Given the description of an element on the screen output the (x, y) to click on. 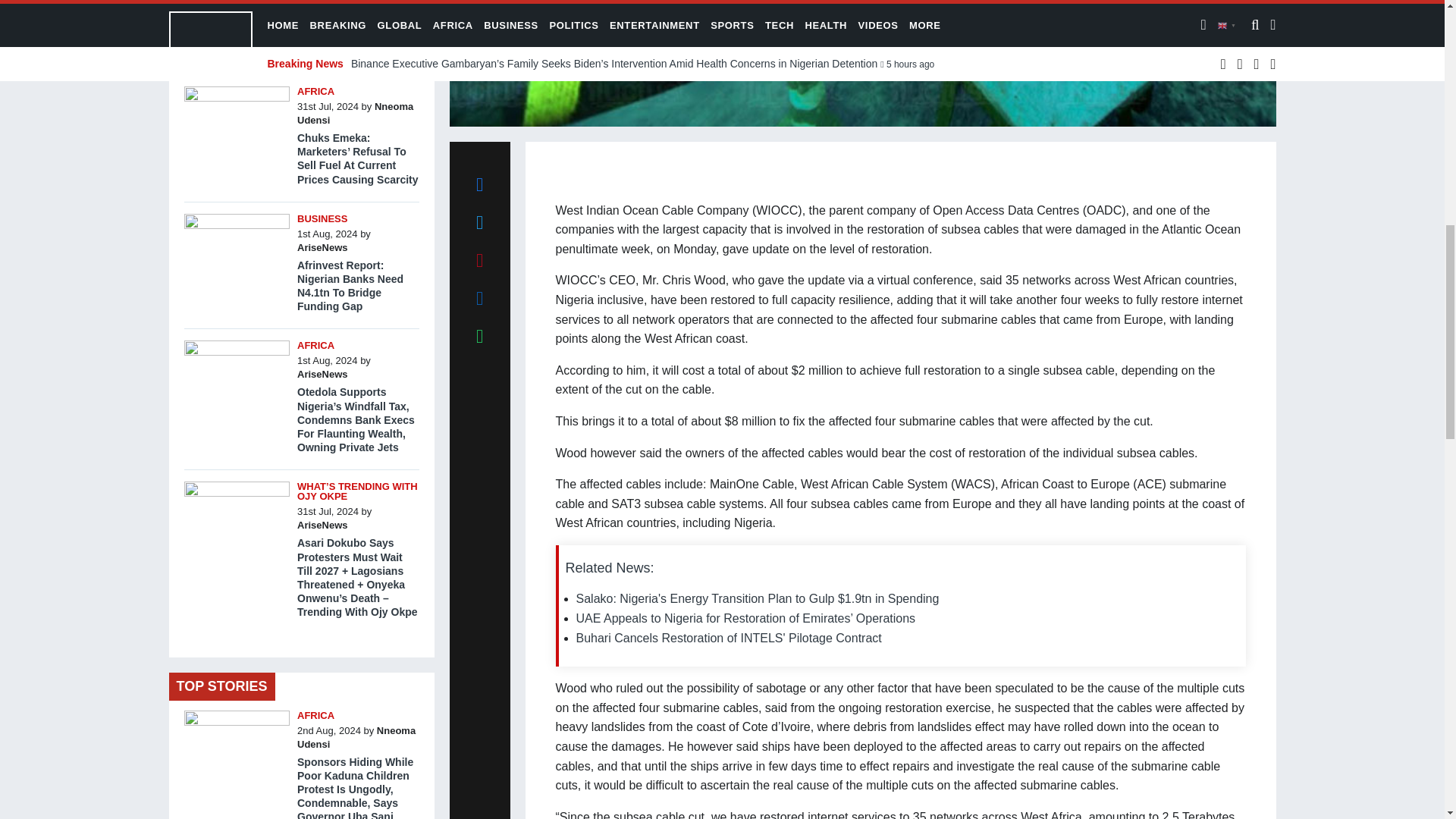
AriseNews (322, 247)
Posts by AriseNews (322, 247)
BUSINESS (322, 218)
Posts by Nneoma Udensi (355, 113)
Nneoma Udensi (355, 113)
AFRICA (315, 91)
Buhari Cancels Restoration of INTELS' Pilotage Contract (729, 637)
